Given the description of an element on the screen output the (x, y) to click on. 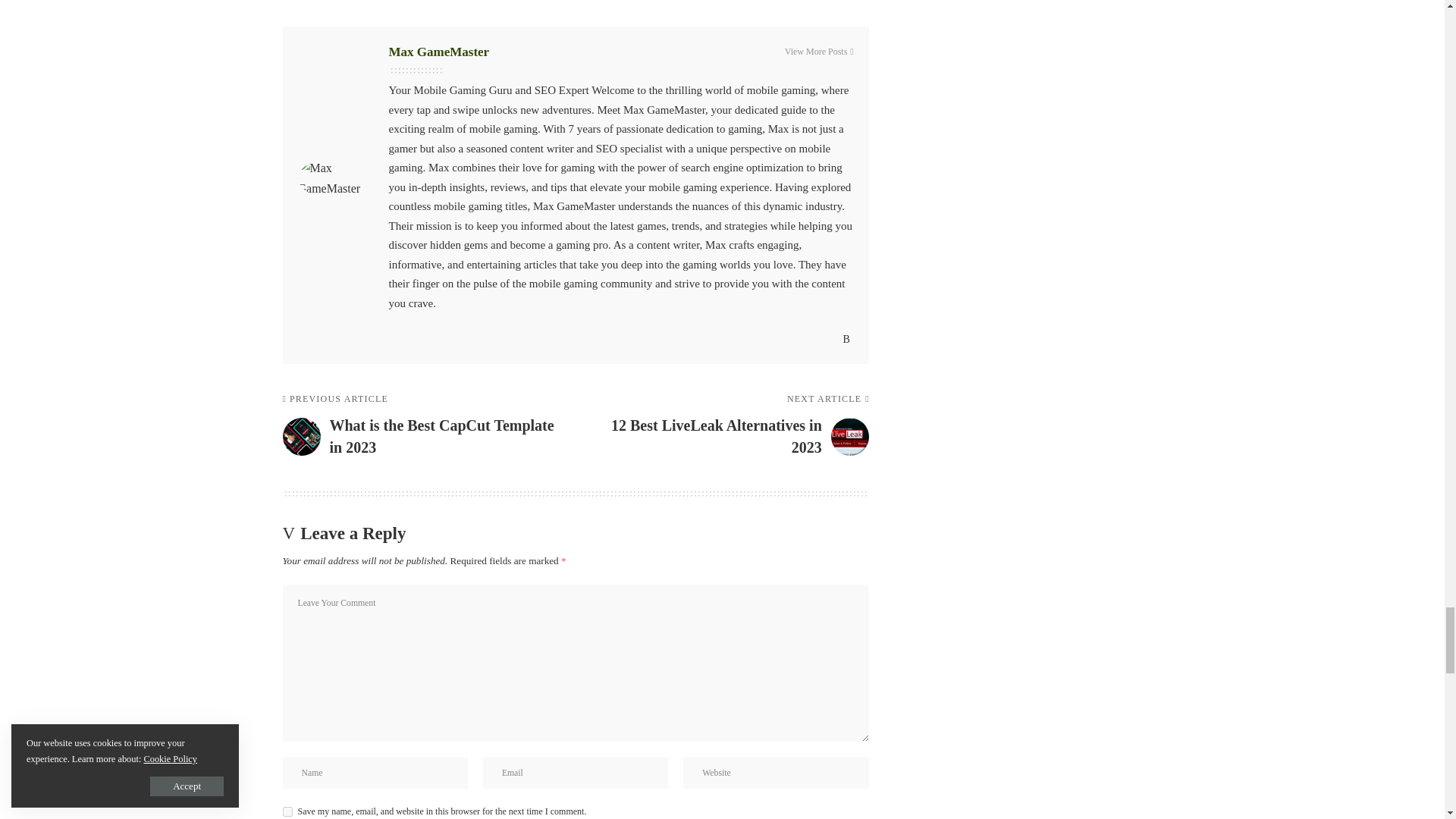
yes (287, 811)
